Given the description of an element on the screen output the (x, y) to click on. 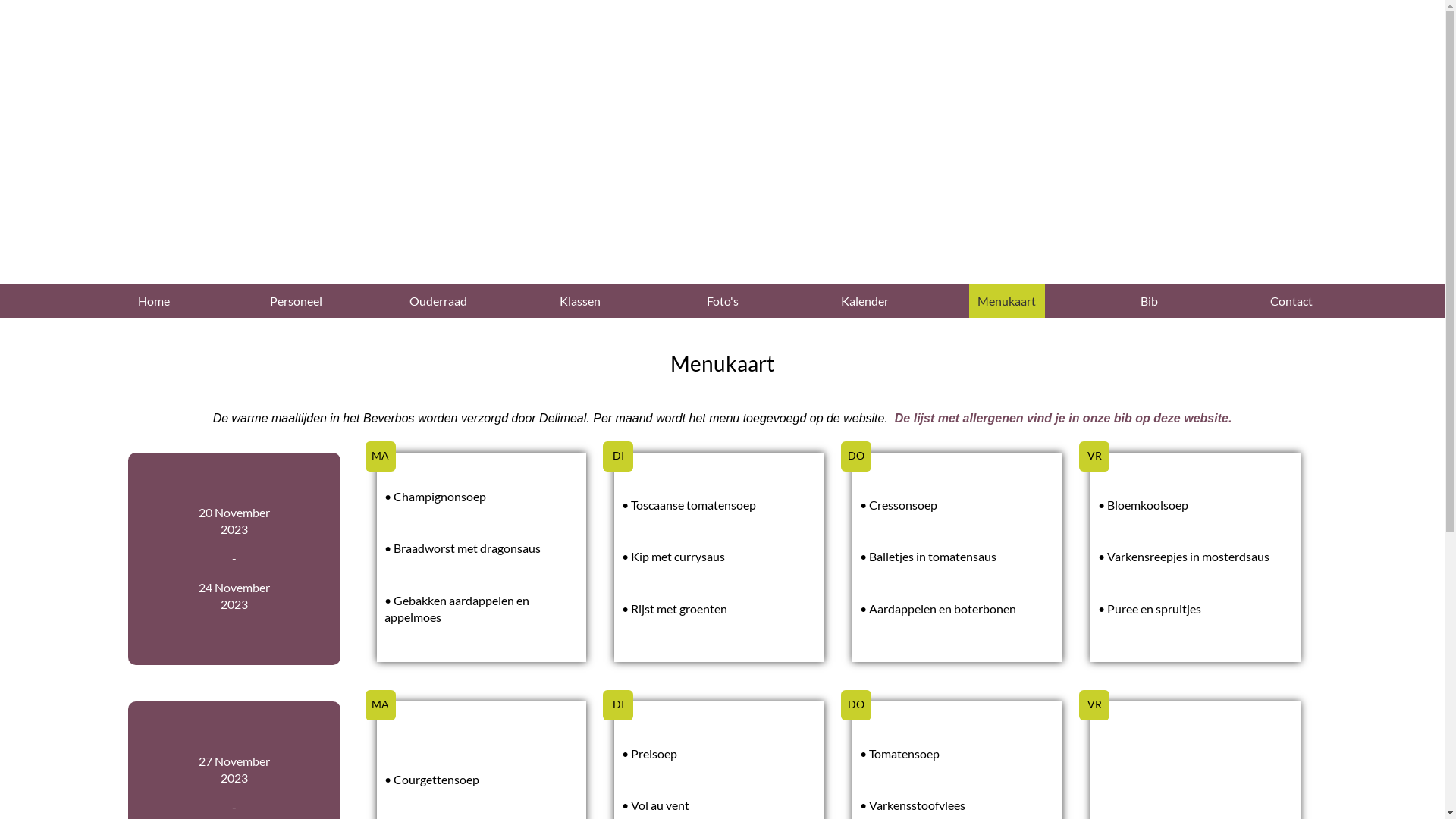
Bib Element type: text (1148, 300)
Login Element type: text (1278, 45)
Vragen Element type: text (1170, 45)
Contact Element type: text (1290, 300)
Foto's Element type: text (721, 300)
Klassen Element type: text (580, 300)
Ouderraad Element type: text (438, 300)
Personeel Element type: text (295, 300)
Home Element type: text (153, 300)
Kalender Element type: text (864, 300)
Menukaart Element type: text (1006, 300)
Links Element type: text (1063, 45)
